Given the description of an element on the screen output the (x, y) to click on. 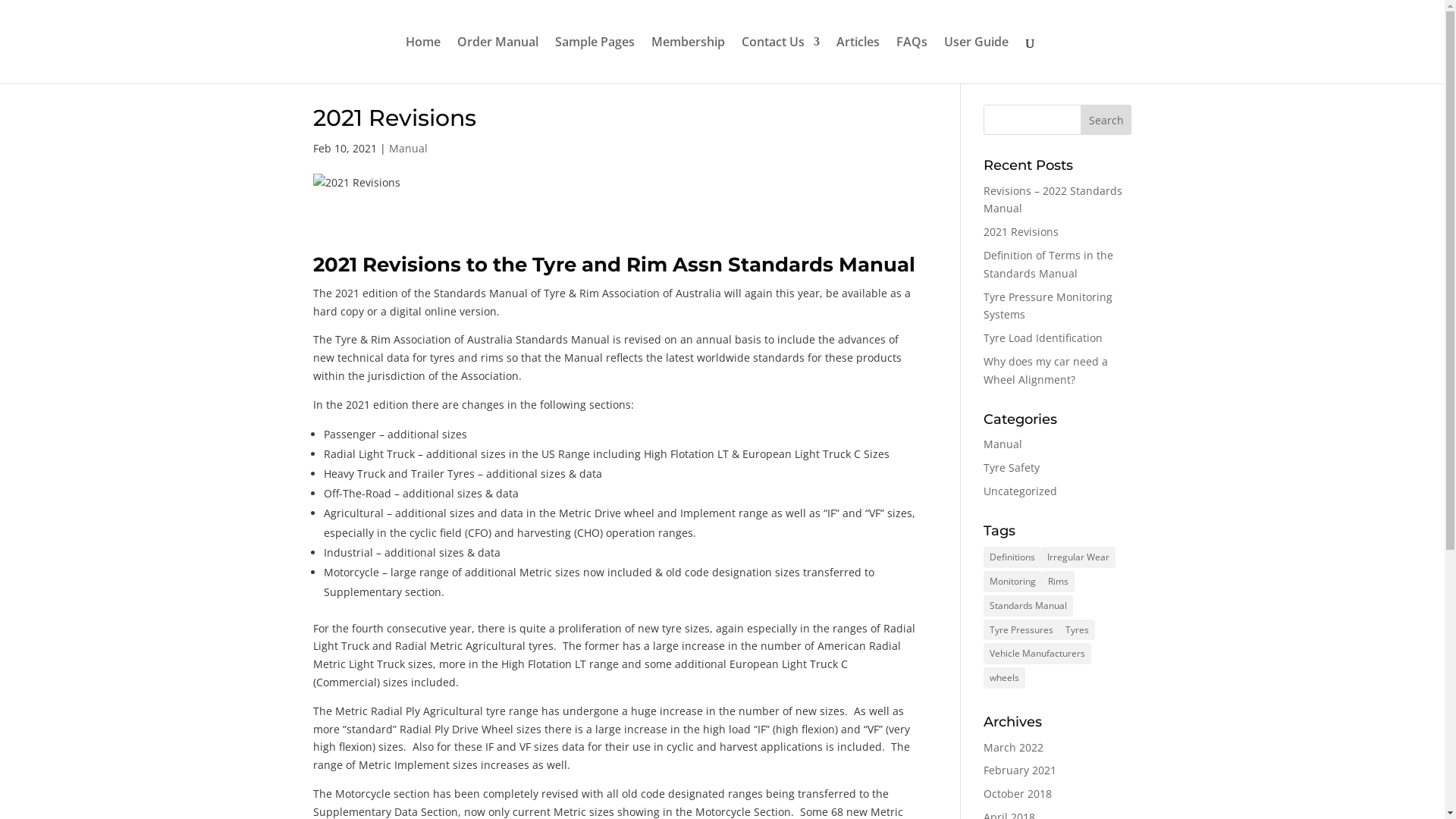
Vehicle Manufacturers Element type: text (1037, 653)
Manual Element type: text (407, 148)
Definition of Terms in the Standards Manual Element type: text (1048, 263)
Tyres Element type: text (1077, 629)
Home Element type: text (422, 59)
Tyre Safety Element type: text (1011, 467)
Sample Pages Element type: text (594, 59)
Tyre Pressures Element type: text (1021, 629)
Definitions Element type: text (1012, 556)
FAQs Element type: text (911, 59)
User Guide Element type: text (976, 59)
2021 Revisions Element type: text (1020, 231)
February 2021 Element type: text (1019, 769)
October 2018 Element type: text (1017, 793)
Rims Element type: text (1057, 581)
Order Manual Element type: text (497, 59)
Tyre Pressure Monitoring Systems Element type: text (1047, 305)
Contact Us Element type: text (780, 59)
Membership Element type: text (687, 59)
Irregular Wear Element type: text (1078, 556)
Manual Element type: text (1002, 443)
Monitoring Element type: text (1012, 581)
Tyre Load Identification Element type: text (1042, 337)
Articles Element type: text (857, 59)
March 2022 Element type: text (1013, 747)
wheels Element type: text (1004, 677)
Uncategorized Element type: text (1020, 490)
Search Element type: text (1106, 119)
Why does my car need a Wheel Alignment? Element type: text (1045, 370)
Standards Manual Element type: text (1028, 605)
